Given the description of an element on the screen output the (x, y) to click on. 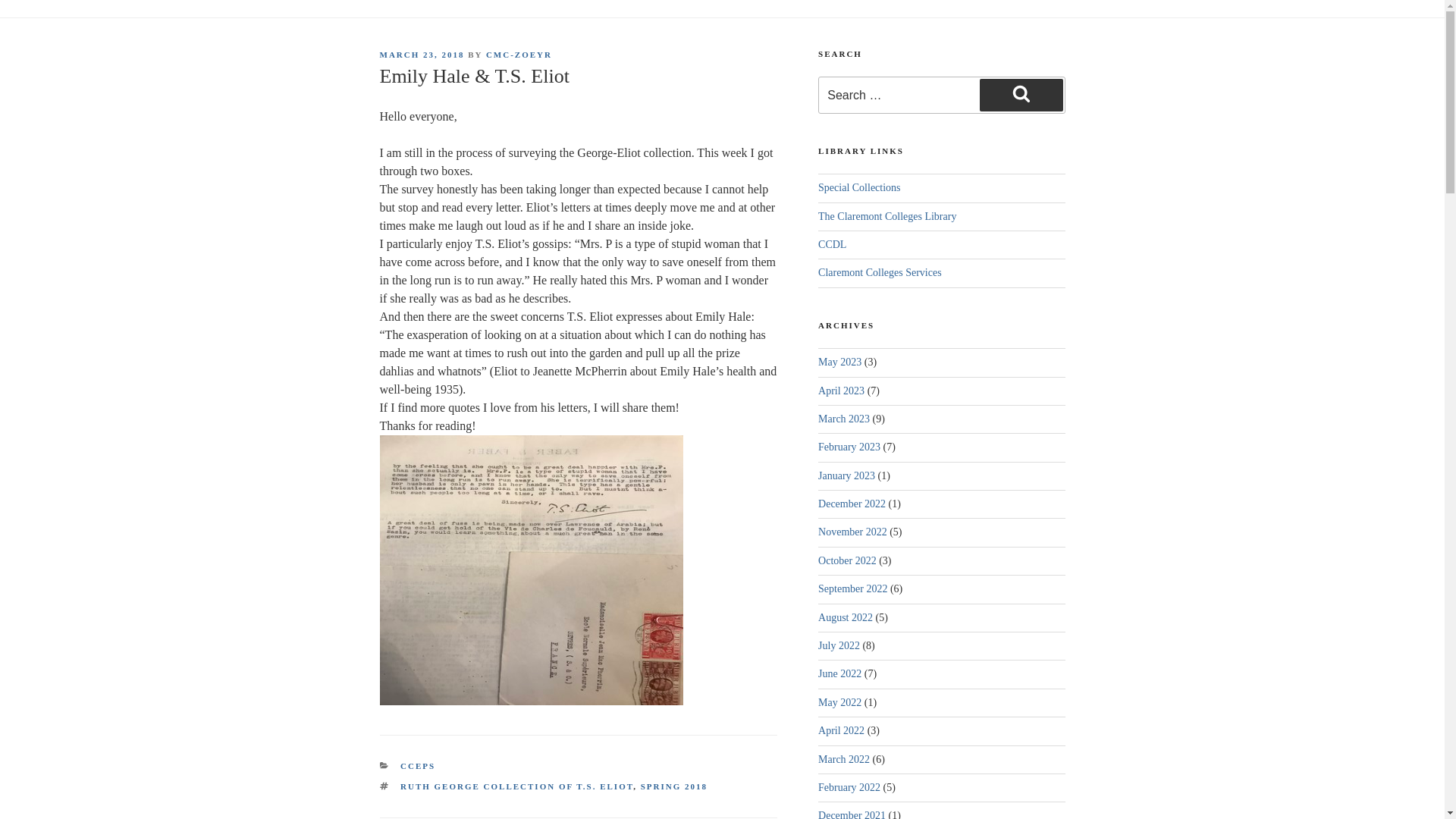
Claremont Colleges Services (880, 272)
August 2022 (845, 617)
CCDL (831, 244)
December 2022 (851, 503)
About (451, 4)
September 2022 (852, 588)
Special Collections (858, 187)
SPRING 2018 (673, 786)
February 2022 (849, 787)
December 2021 (851, 814)
